Given the description of an element on the screen output the (x, y) to click on. 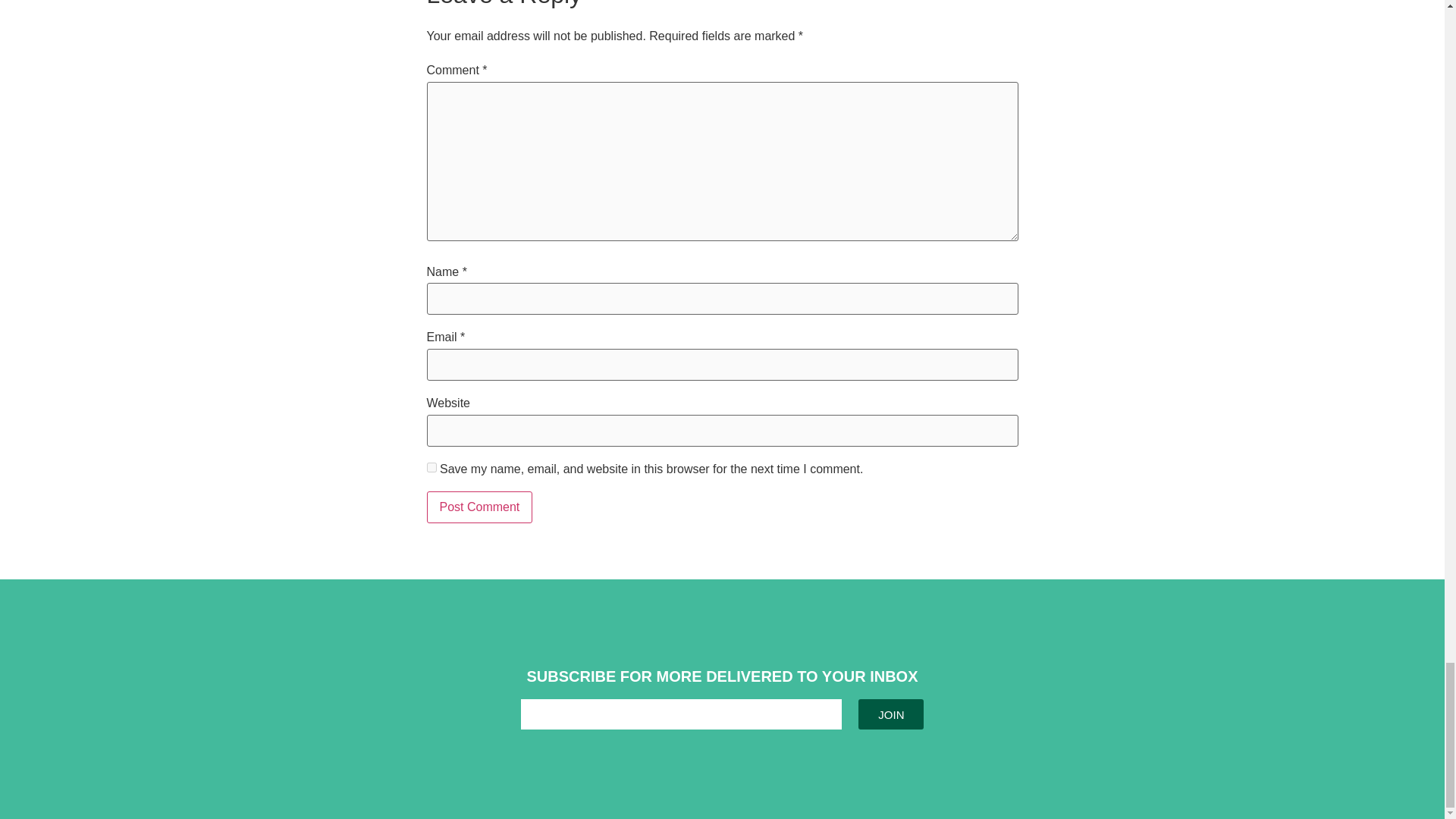
yes (430, 467)
Post Comment (479, 507)
